Given the description of an element on the screen output the (x, y) to click on. 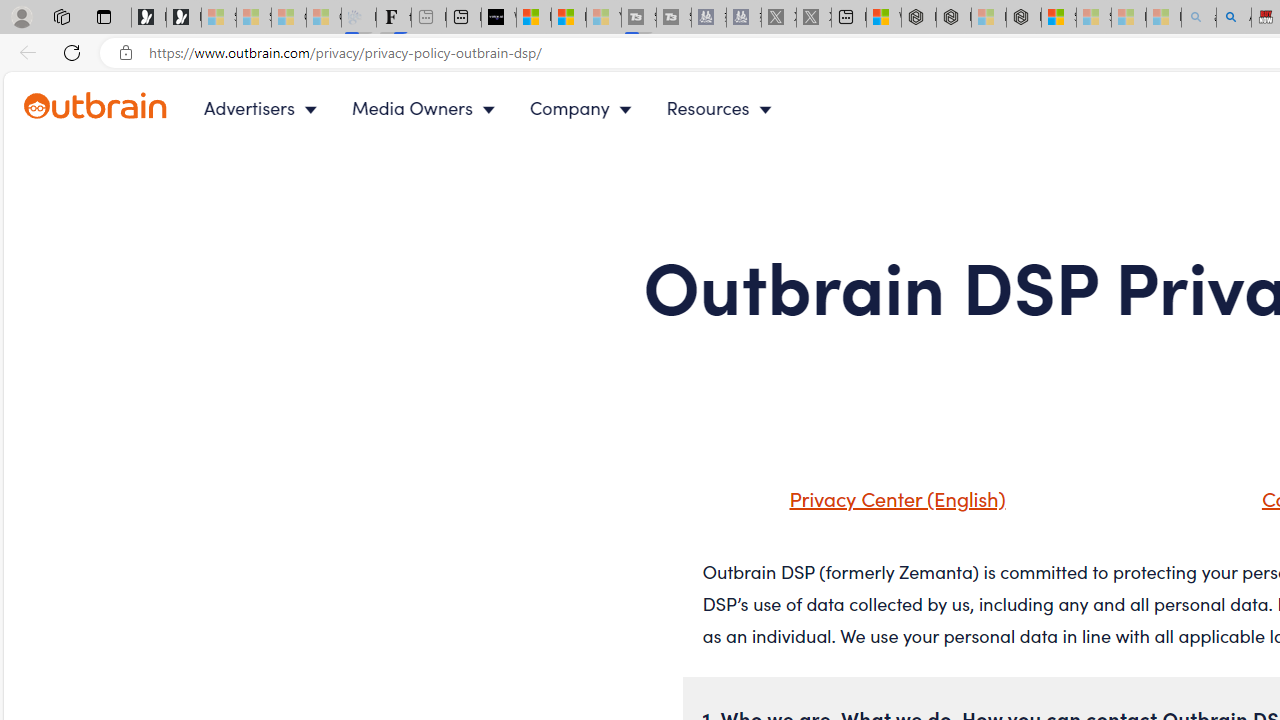
Outbrain logo - link to homepage (96, 106)
Nordace - Nordace Siena Is Not An Ordinary Backpack (1023, 17)
Resources (723, 107)
Media Owners (427, 107)
